Given the description of an element on the screen output the (x, y) to click on. 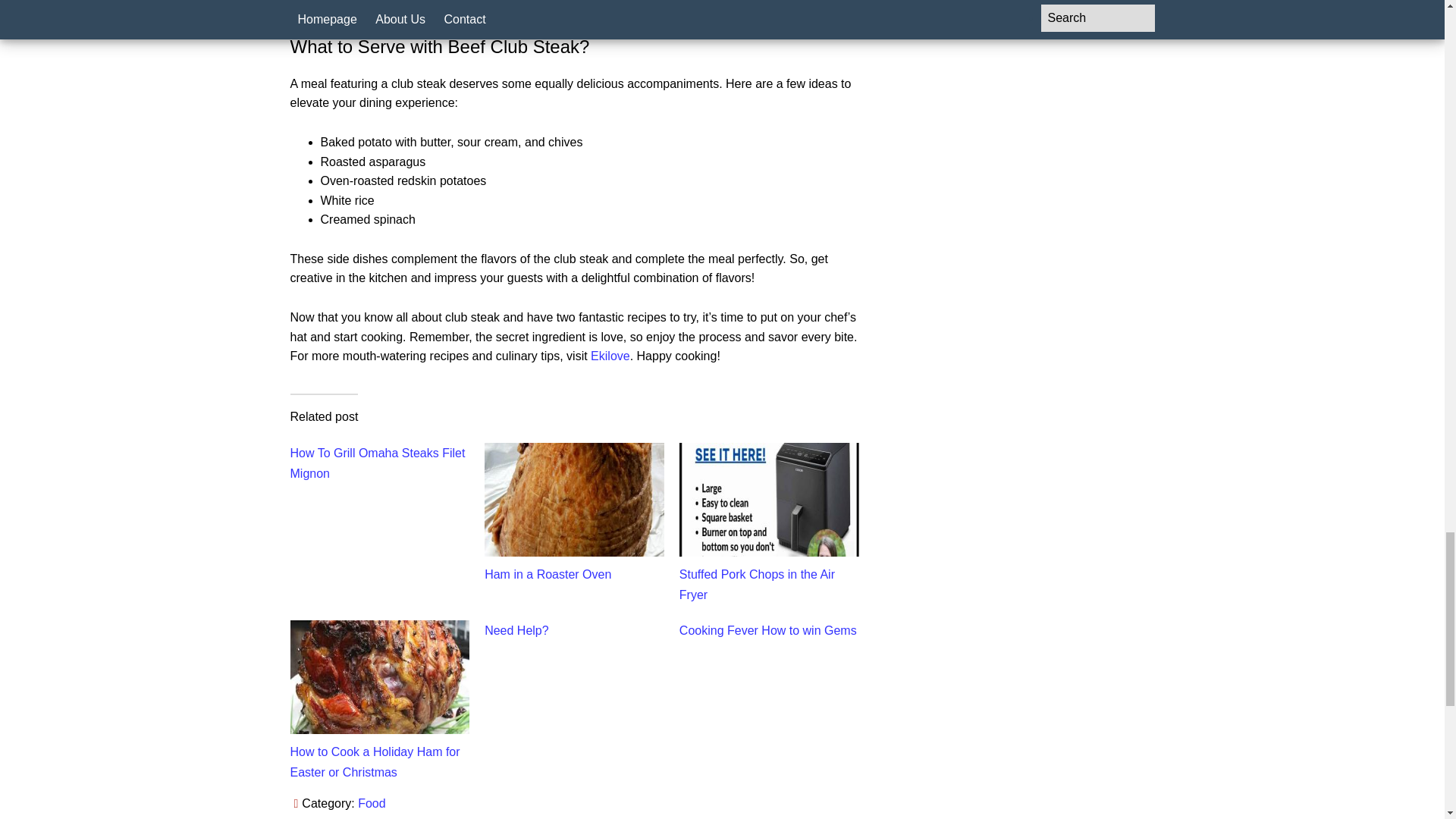
Stuffed Pork Chops in the Air Fryer (756, 584)
How to Cook a Holiday Ham for Easter or Christmas (374, 761)
How To Grill Omaha Steaks Filet Mignon (376, 462)
Food (371, 802)
Need Help? (516, 630)
Ekilove (610, 355)
Ham in a Roaster Oven (547, 574)
Cooking Fever How to win Gems (768, 630)
